Given the description of an element on the screen output the (x, y) to click on. 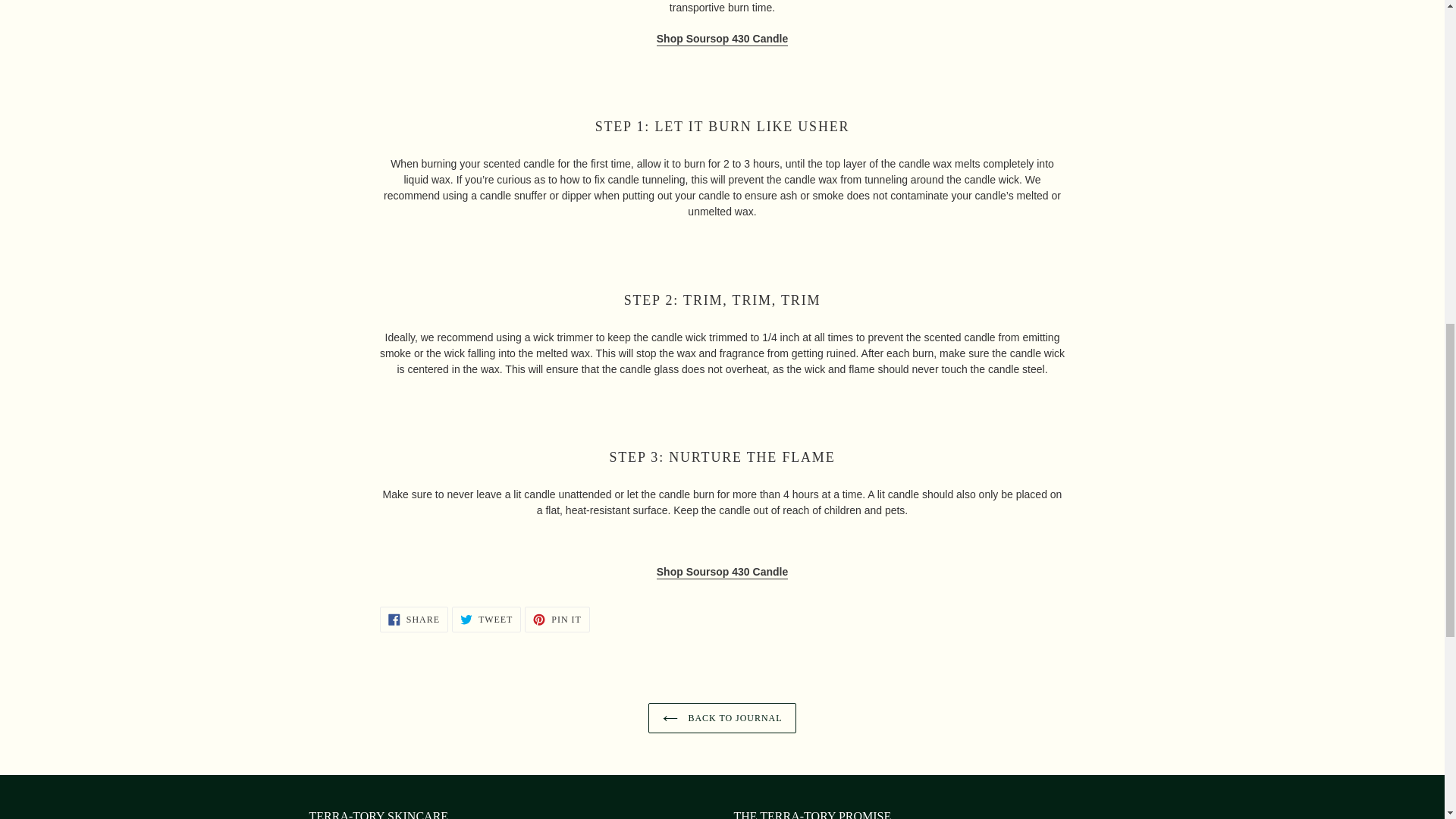
terra-tory candle (721, 572)
terra-tory candle (721, 38)
